Given the description of an element on the screen output the (x, y) to click on. 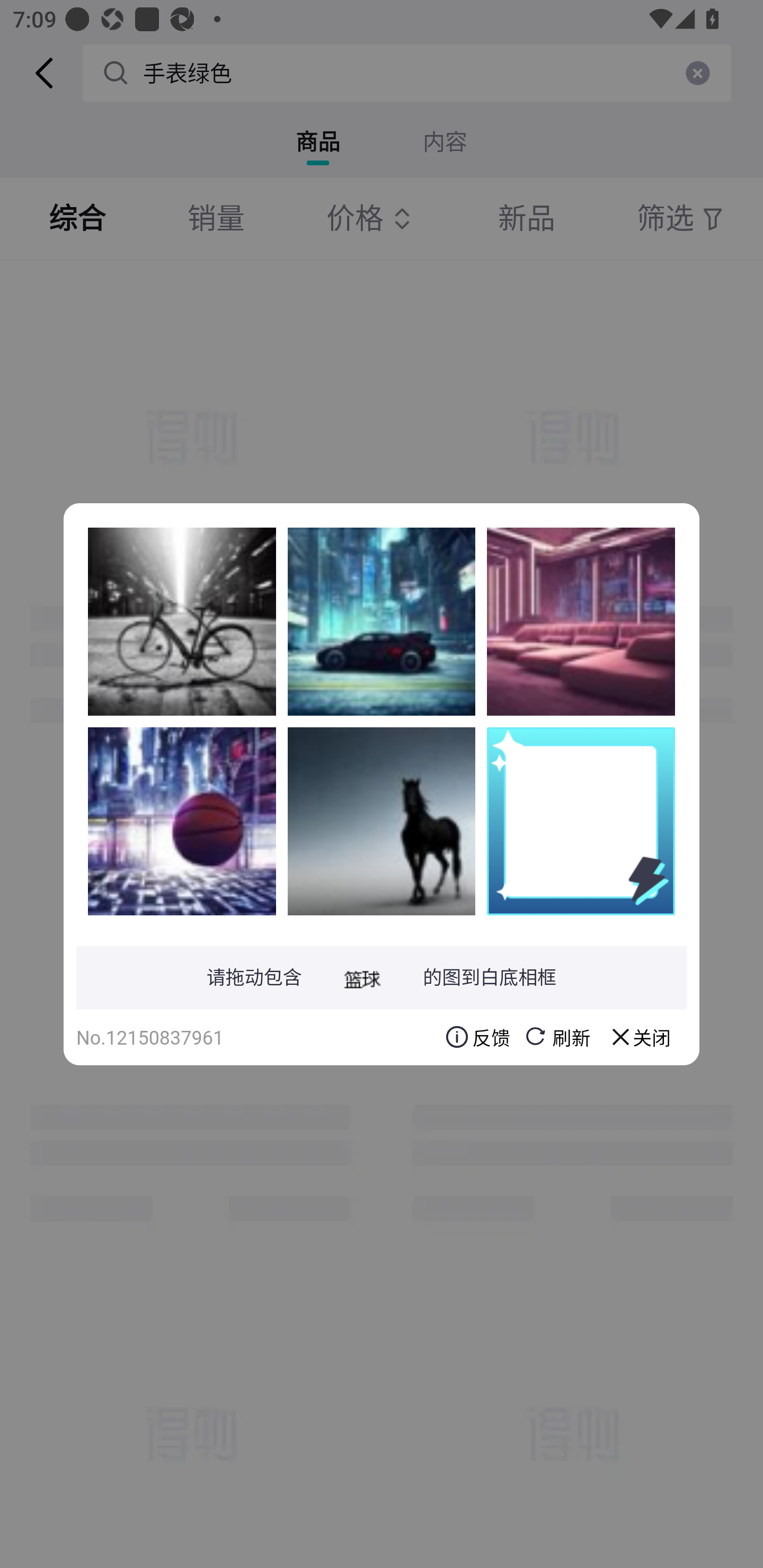
UJH (181, 621)
5LGdARnm1PIogRwhajRC1UJAuVDX0Yzv0gzxai4hgKWW (381, 621)
s3YUjF9uaErE3Woy7d6FvWJFP3ssvgJUB1BV50GHvQQ4 (580, 621)
GDHwN0 (181, 820)
